Given the description of an element on the screen output the (x, y) to click on. 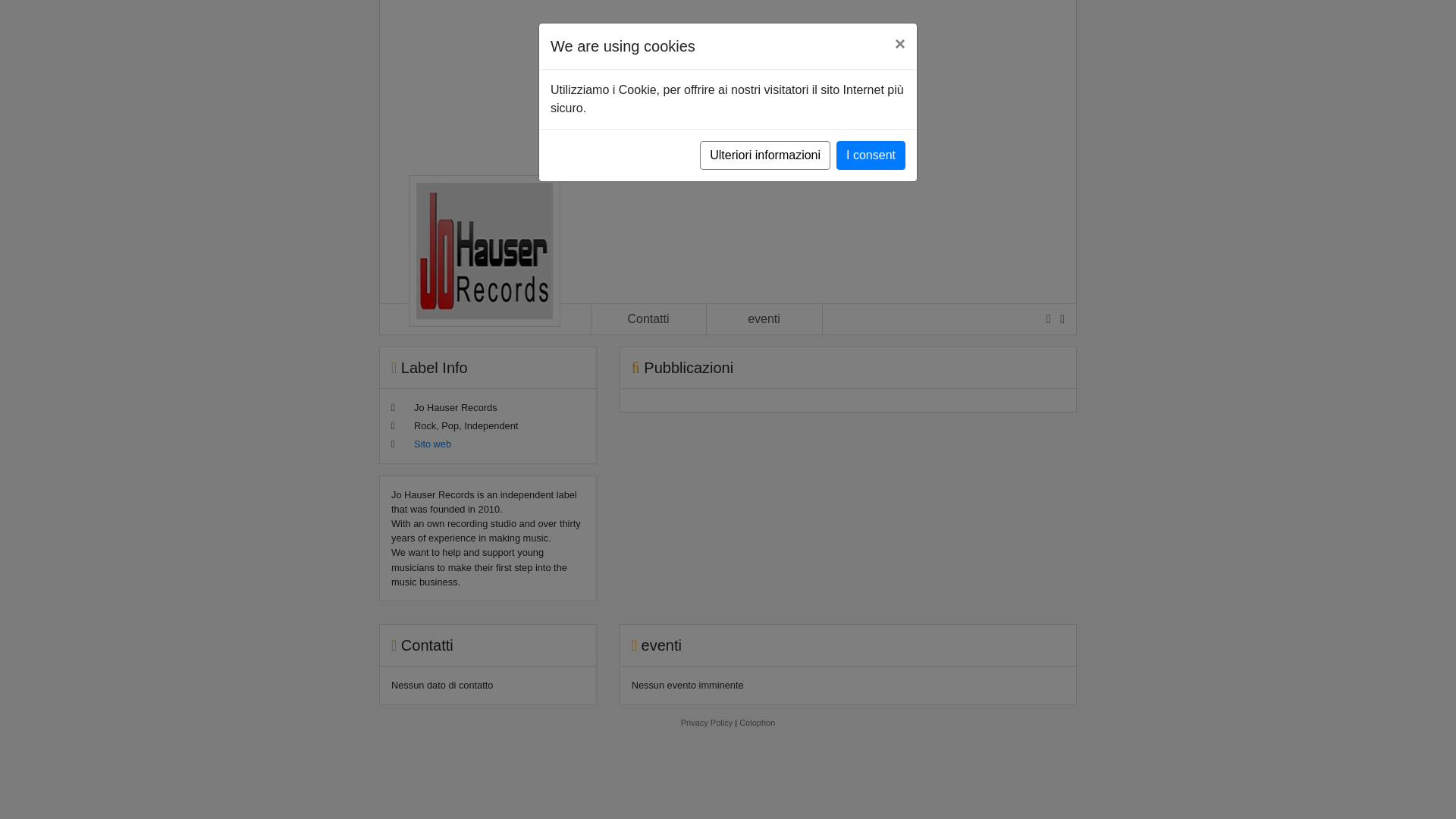
I consent (870, 154)
Ulteriori informazioni (764, 154)
Contatti (647, 318)
Colophon (756, 722)
Sito web (432, 443)
eventi (764, 318)
Privacy Policy (706, 722)
